Given the description of an element on the screen output the (x, y) to click on. 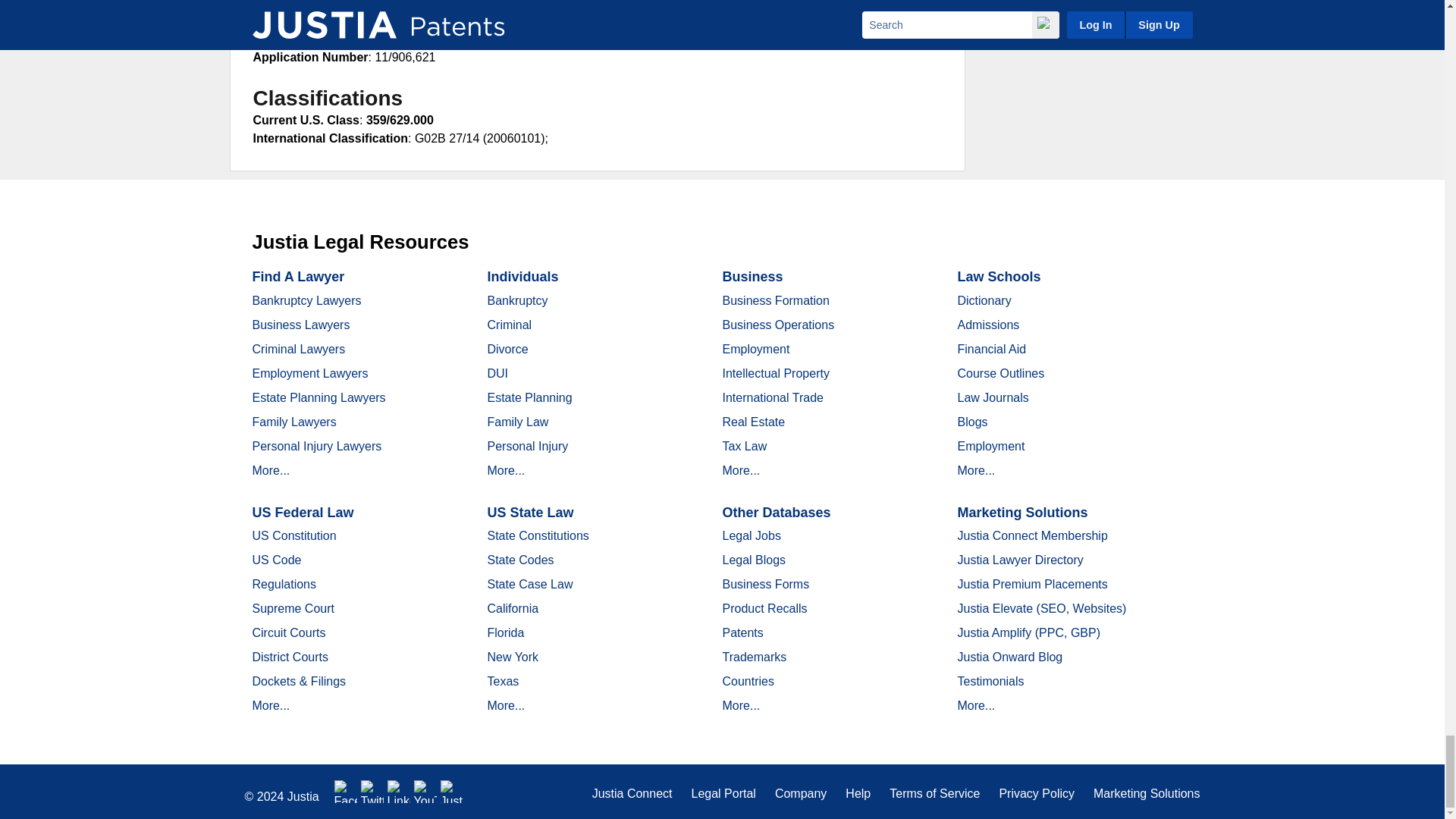
YouTube (424, 791)
Facebook (345, 791)
Justia Lawyer Directory (452, 791)
7492522 (404, 4)
Cytonome, Inc. (355, 20)
Twitter (372, 791)
LinkedIn (398, 791)
